Given the description of an element on the screen output the (x, y) to click on. 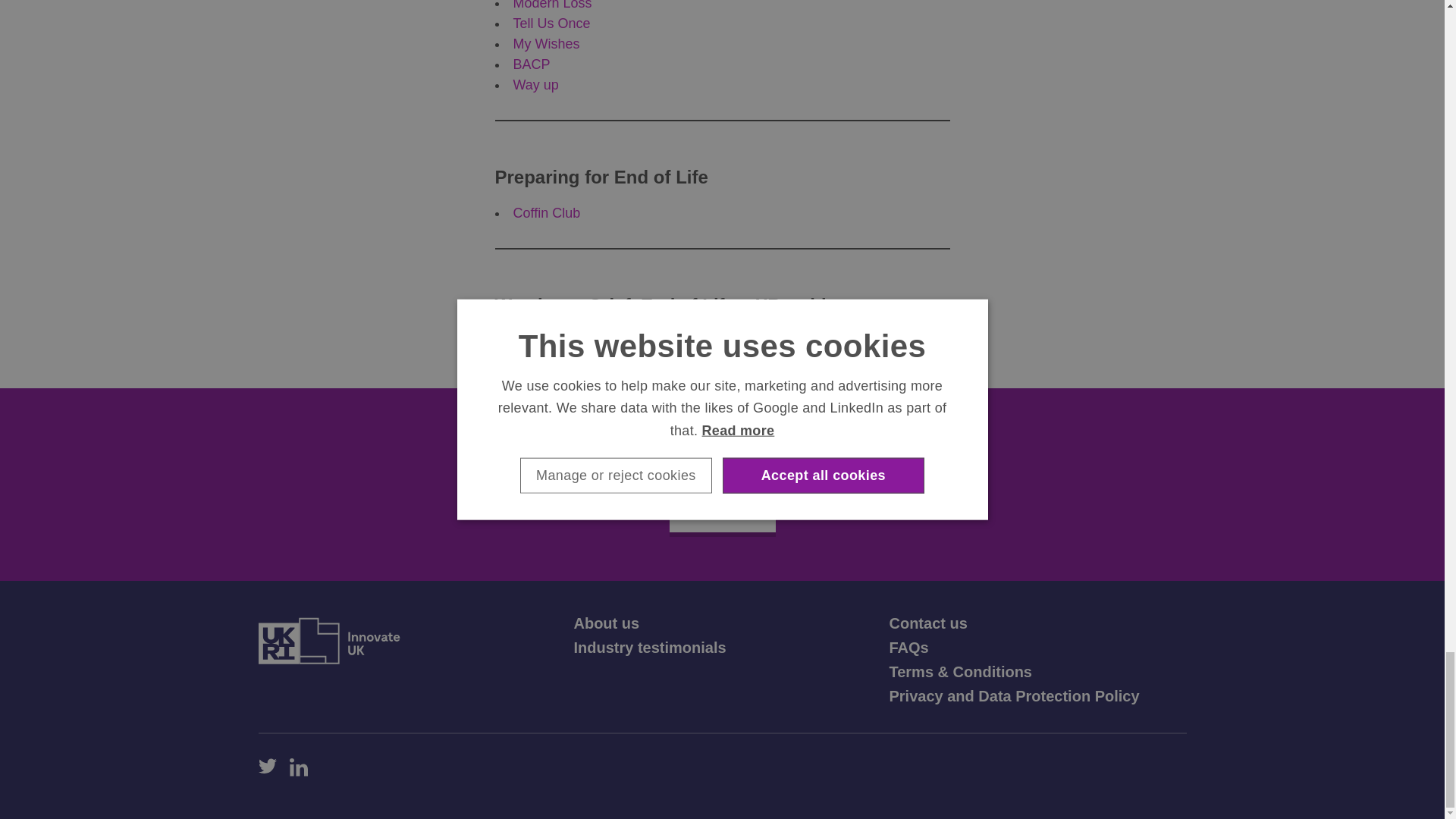
Privacy and Data Protection Policy (1013, 695)
Industry testimonials (649, 647)
Link to Immersive Tech Network on LinkedIn (298, 767)
Link to Immersive Tech Network on Twitter (266, 767)
Contact us (927, 623)
FAQs (908, 647)
Innovate UK Website (327, 640)
About us (606, 623)
